Given the description of an element on the screen output the (x, y) to click on. 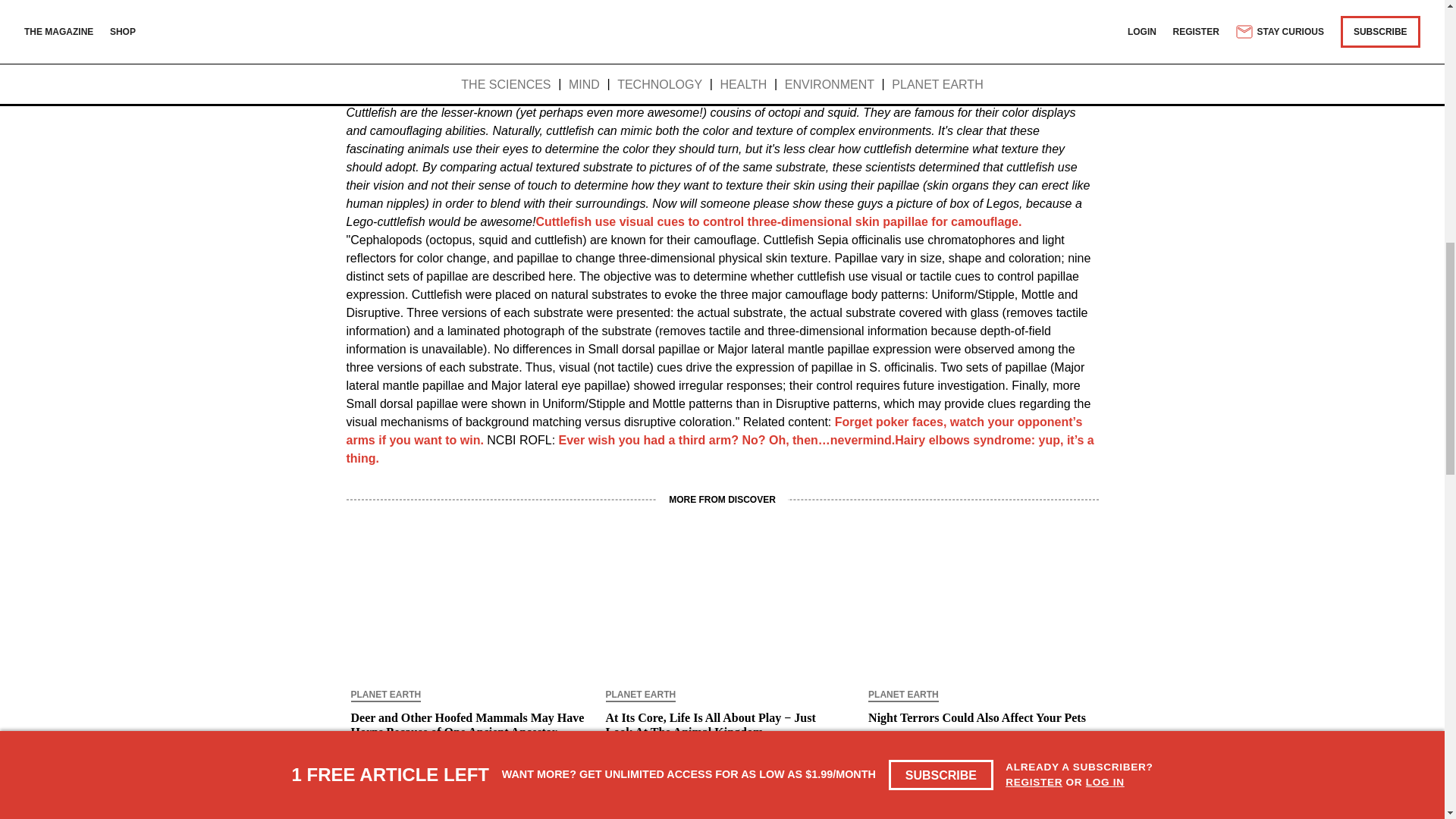
PLANET EARTH (385, 695)
